Given the description of an element on the screen output the (x, y) to click on. 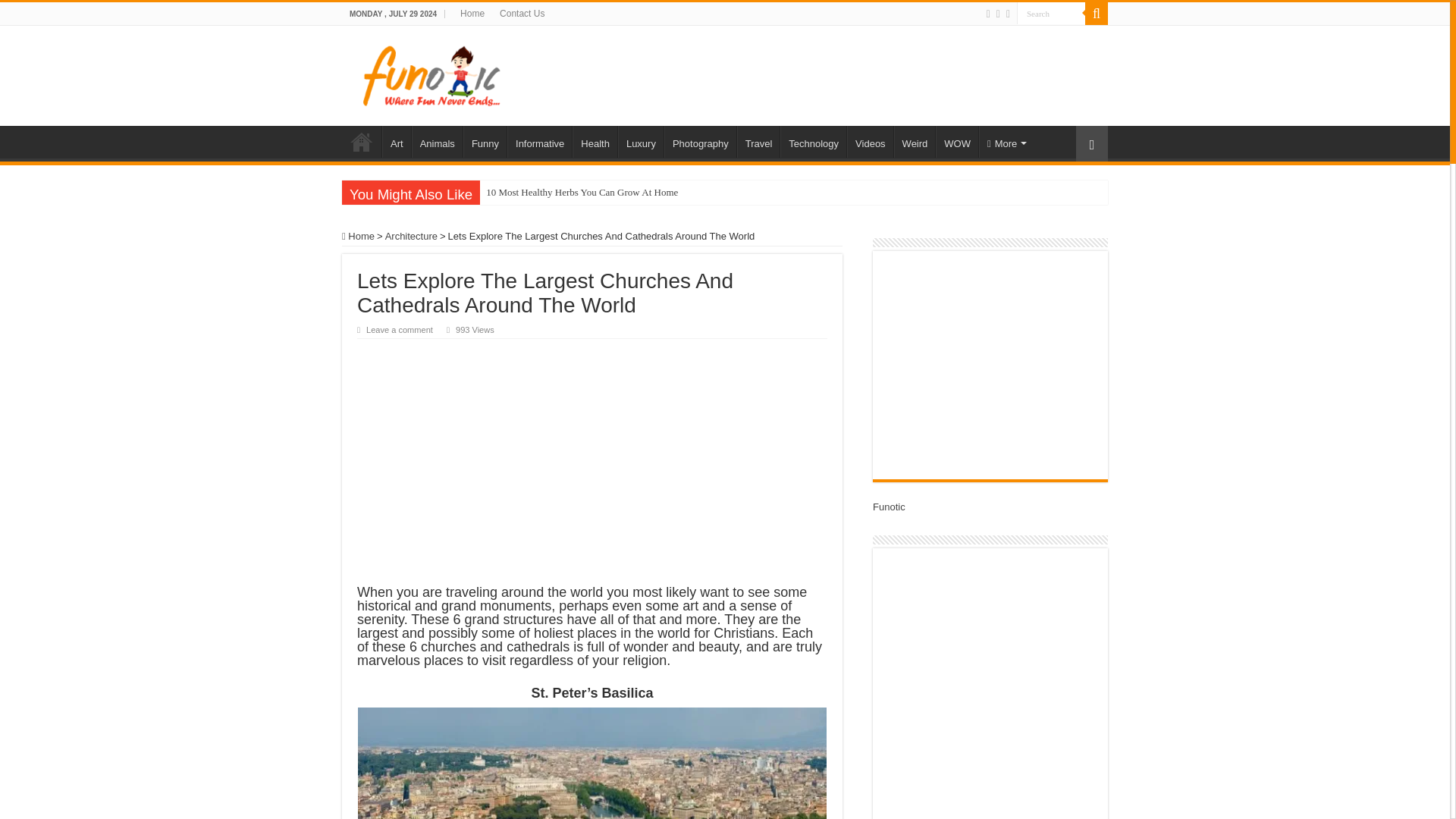
Funotic.com (430, 72)
Contact Us (521, 13)
Home (472, 13)
Search (1050, 13)
Search (1050, 13)
Search (1050, 13)
Advertisement (820, 74)
